Given the description of an element on the screen output the (x, y) to click on. 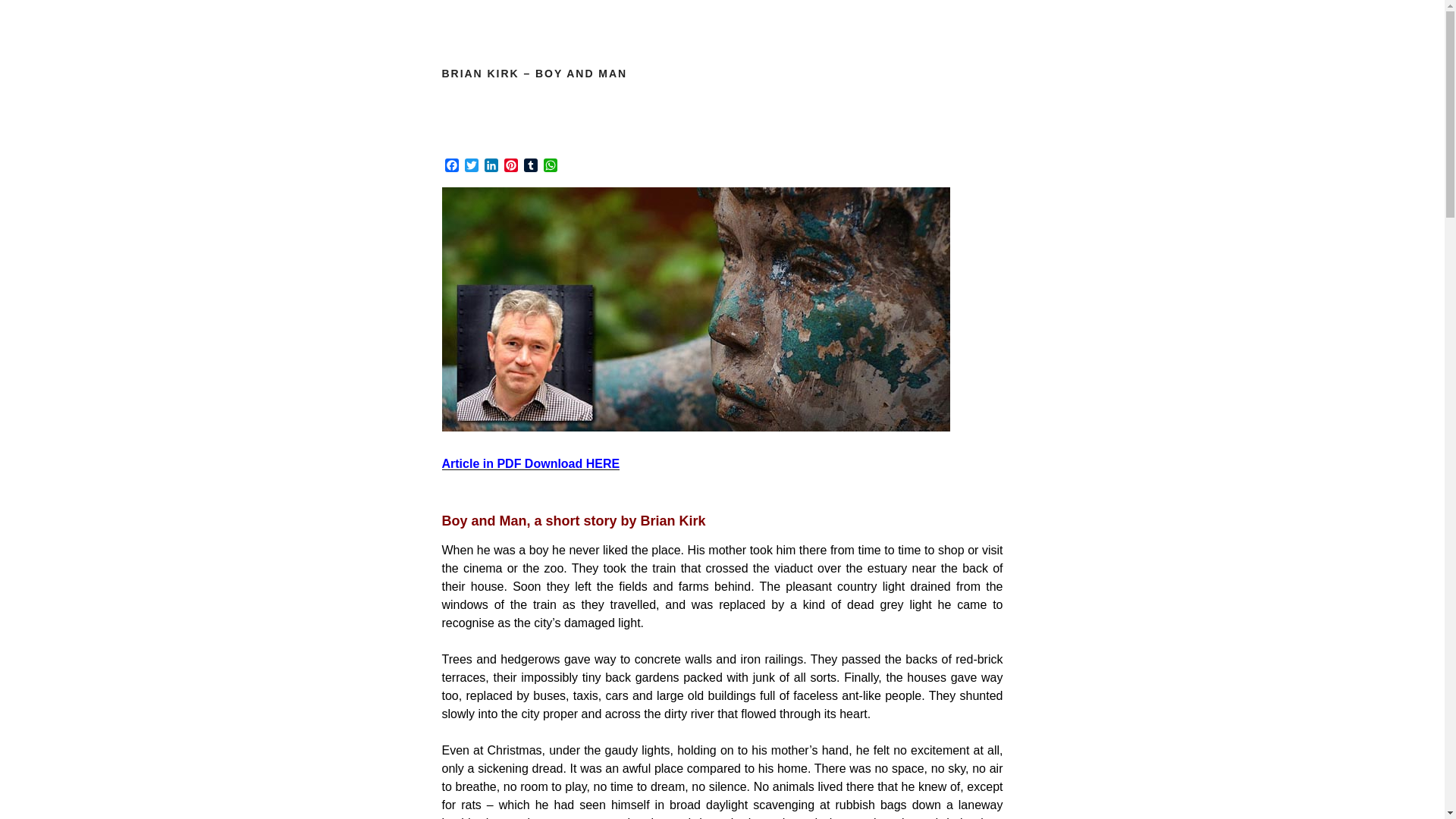
LinkedIn (490, 166)
LinkedIn (490, 166)
WhatsApp (549, 166)
Twitter (470, 166)
WhatsApp (549, 166)
Facebook (451, 166)
Facebook (451, 166)
Pinterest (509, 166)
Tumblr (529, 166)
Article in PDF Download HERE (530, 463)
Pinterest (509, 166)
Twitter (470, 166)
Tumblr (529, 166)
